Given the description of an element on the screen output the (x, y) to click on. 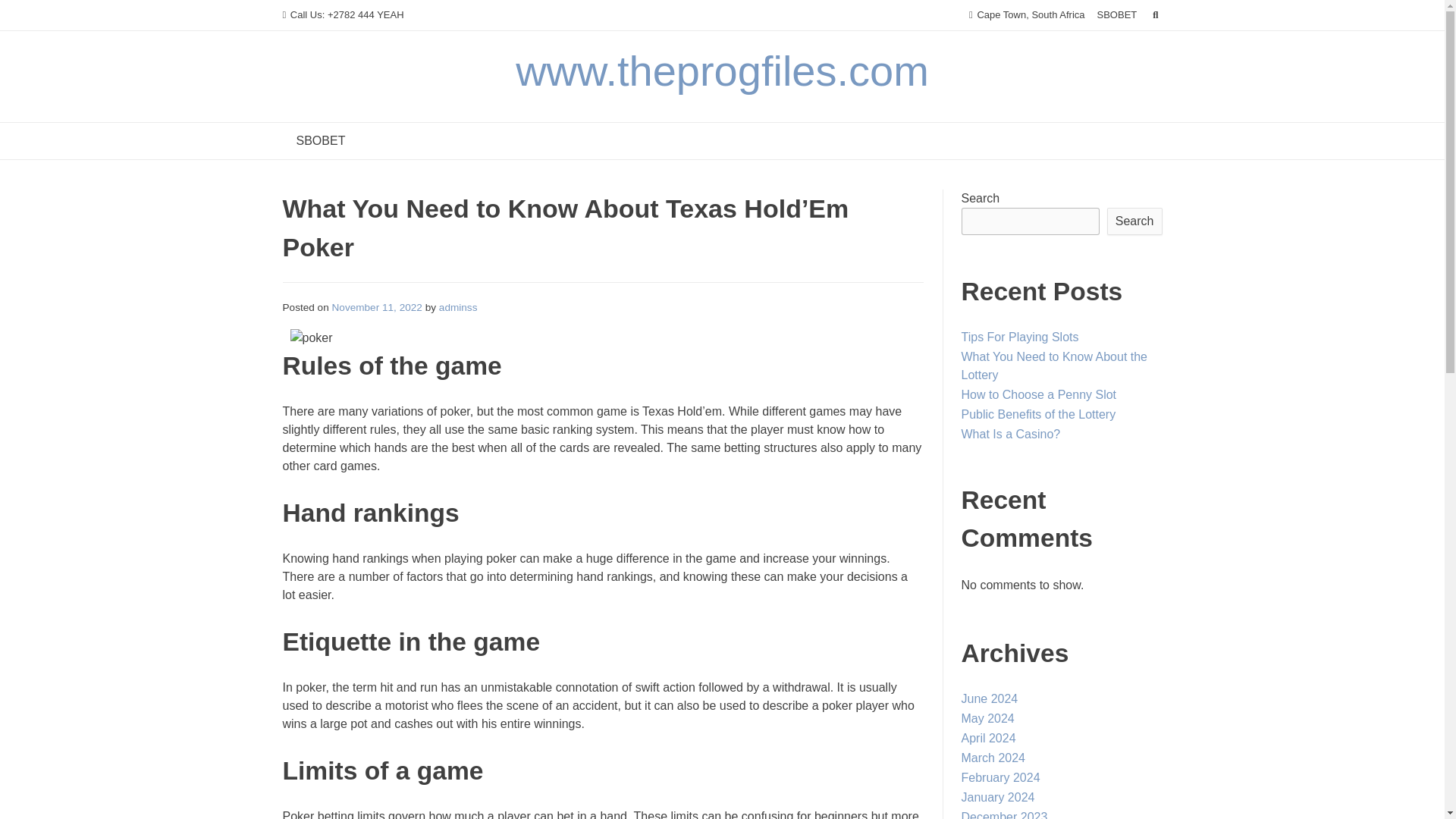
Tips For Playing Slots (1019, 336)
SBOBET (1117, 14)
April 2024 (988, 738)
SBOBET (320, 140)
How to Choose a Penny Slot (1038, 394)
June 2024 (988, 698)
www.theprogfiles.com (721, 70)
Search (27, 13)
What Is a Casino? (1010, 433)
February 2024 (1000, 777)
